Given the description of an element on the screen output the (x, y) to click on. 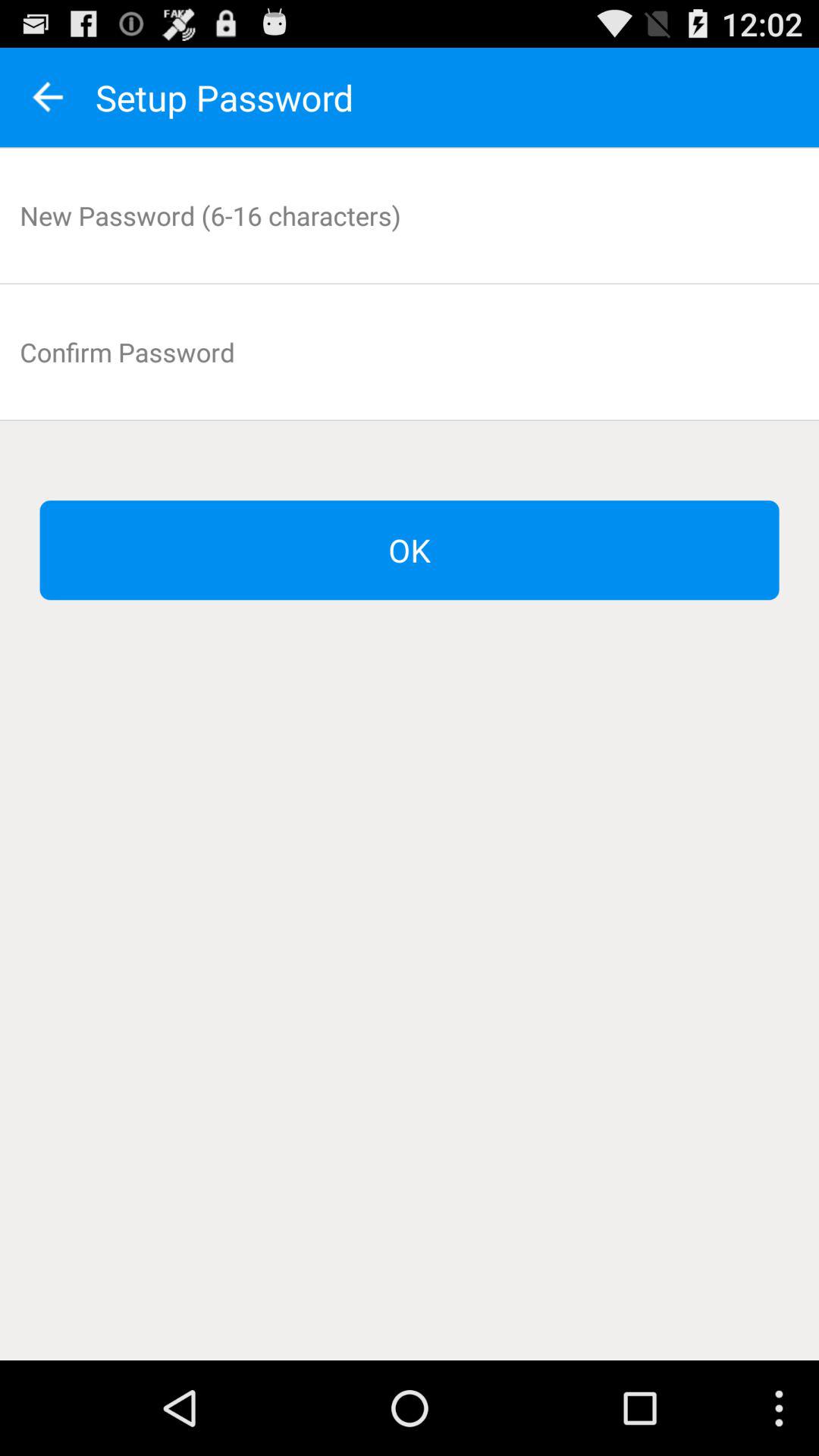
select confirm password (409, 351)
